Given the description of an element on the screen output the (x, y) to click on. 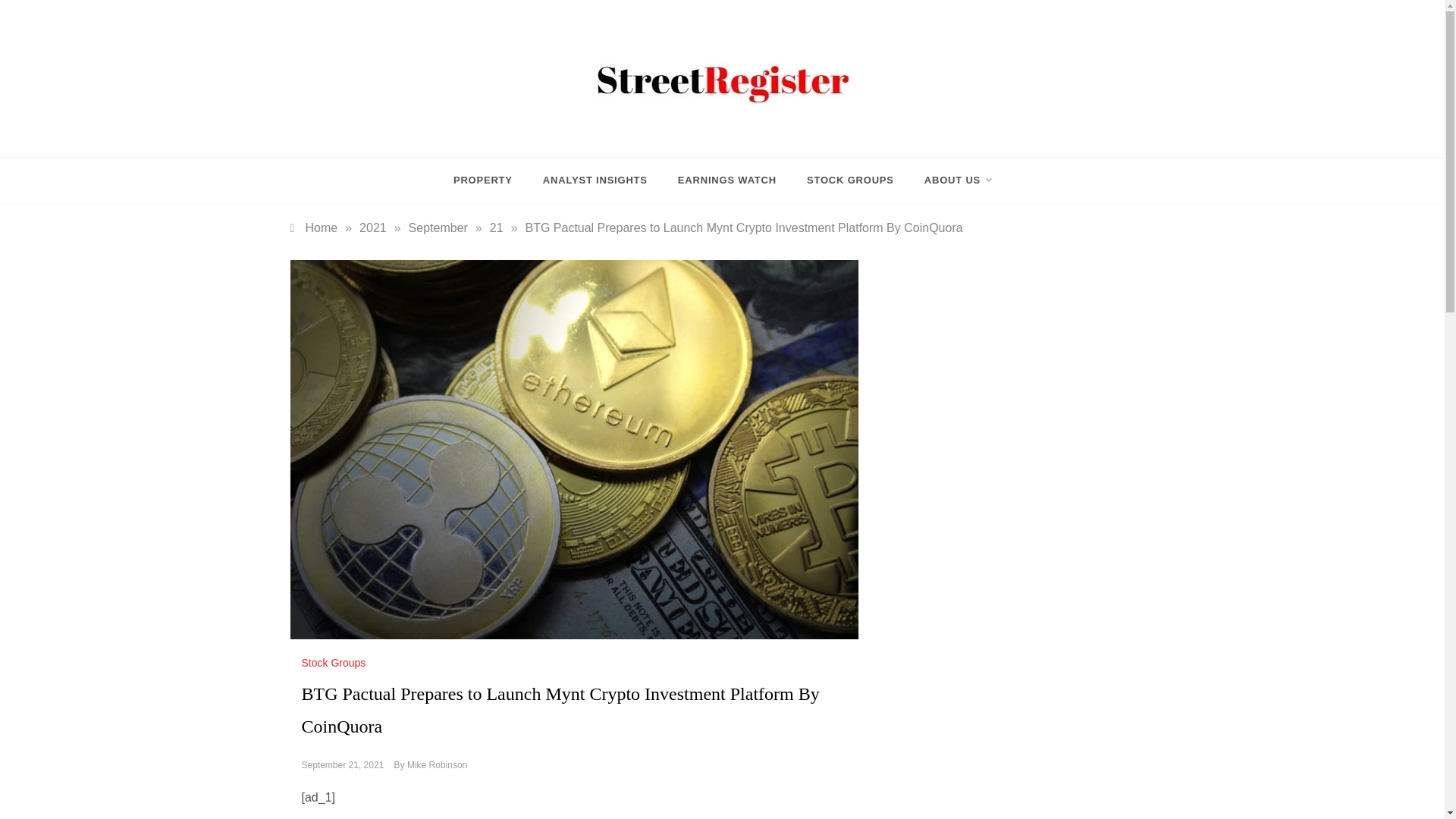
September (438, 227)
Home (313, 227)
STOCK GROUPS (850, 180)
ABOUT US (949, 180)
Street Register (635, 130)
EARNINGS WATCH (727, 180)
2021 (373, 227)
Stock Groups (335, 662)
ANALYST INSIGHTS (594, 180)
PROPERTY (489, 180)
September 21, 2021 (342, 765)
Mike Robinson (437, 765)
21 (496, 227)
